Given the description of an element on the screen output the (x, y) to click on. 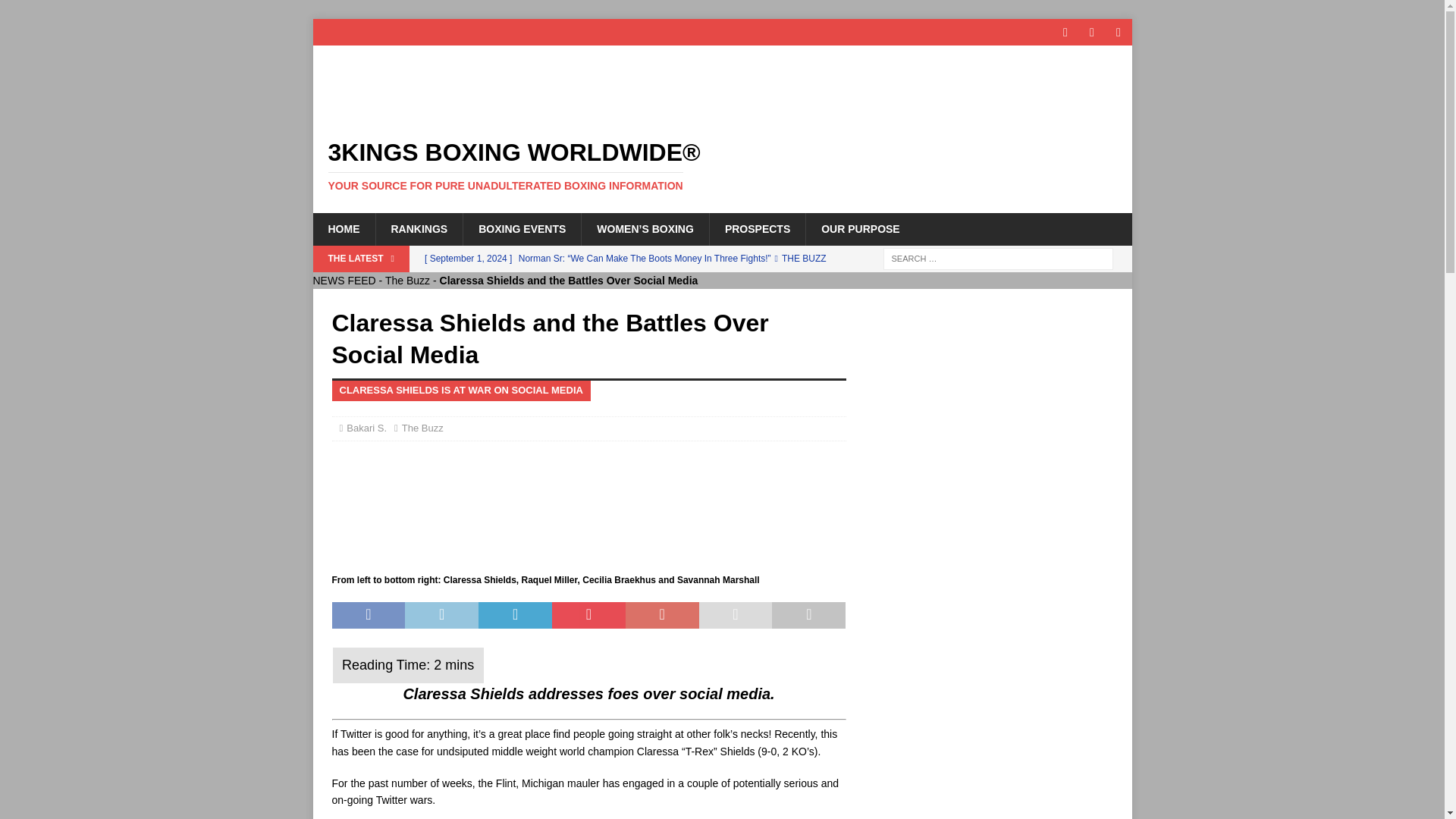
Bakari S. (366, 428)
Search (56, 11)
Diego Pacheco Delivers Maciej Sulecki His First KO Loss! (630, 296)
The Buzz (422, 428)
PROSPECTS (757, 228)
RANKINGS (418, 228)
OUR PURPOSE (859, 228)
Follw 3Kings on Instagram (1118, 31)
The Buzz (407, 280)
BOXING EVENTS (521, 228)
